Given the description of an element on the screen output the (x, y) to click on. 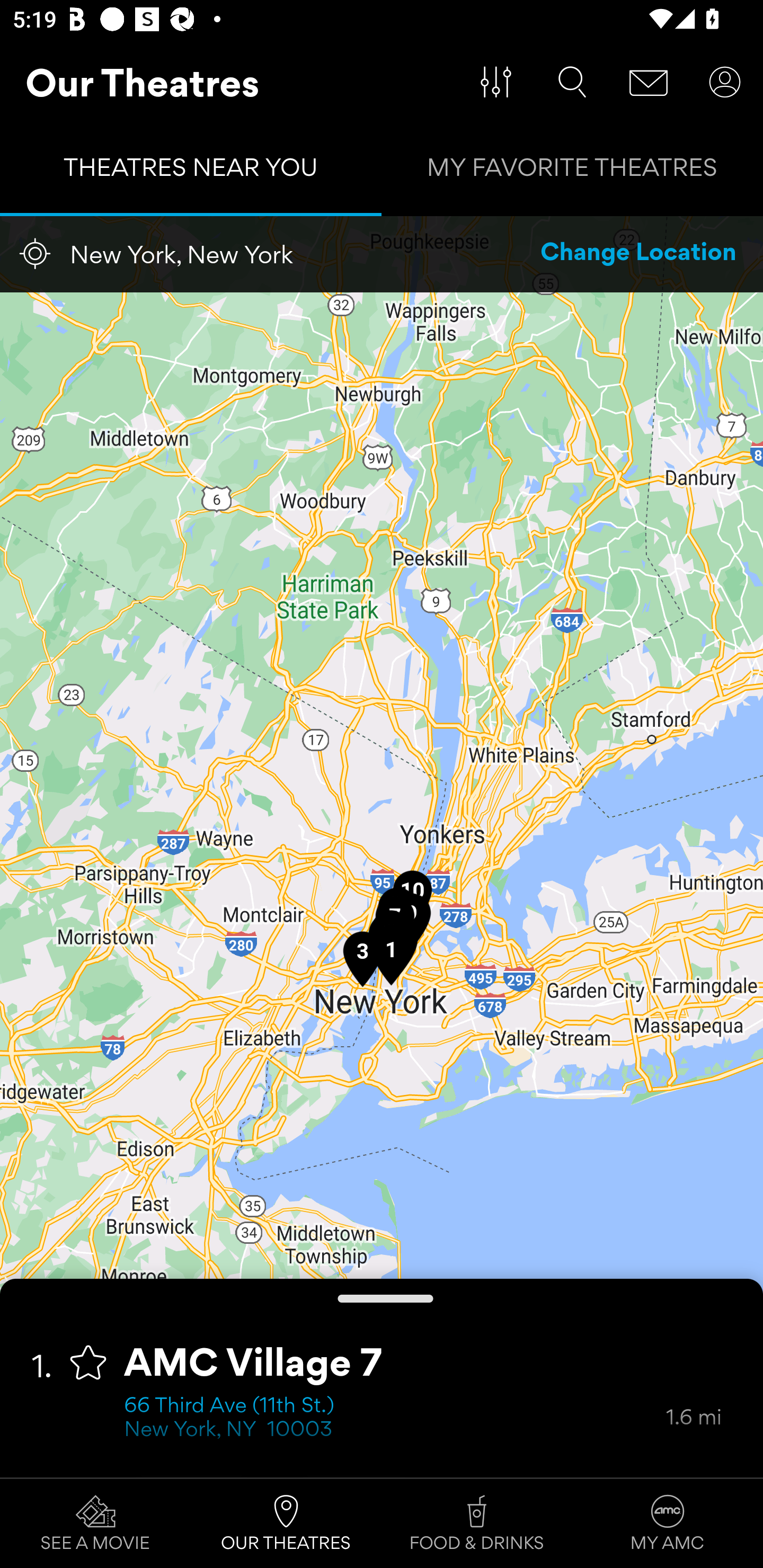
Filter Theatres (495, 82)
Search (572, 82)
Message Center (648, 82)
User Account (724, 82)
THEATRES NEAR YOU
Tab 1 of 2 (190, 171)
MY FAVORITE THEATRES
Tab 2 of 2 (572, 171)
Change Location (639, 253)
66 Third Ave (11th St.)  
New York, NY  10003 (394, 1418)
SEE A MOVIE
Tab 1 of 4 (95, 1523)
OUR THEATRES
Tab 2 of 4 (285, 1523)
FOOD & DRINKS
Tab 3 of 4 (476, 1523)
MY AMC
Tab 4 of 4 (667, 1523)
